Given the description of an element on the screen output the (x, y) to click on. 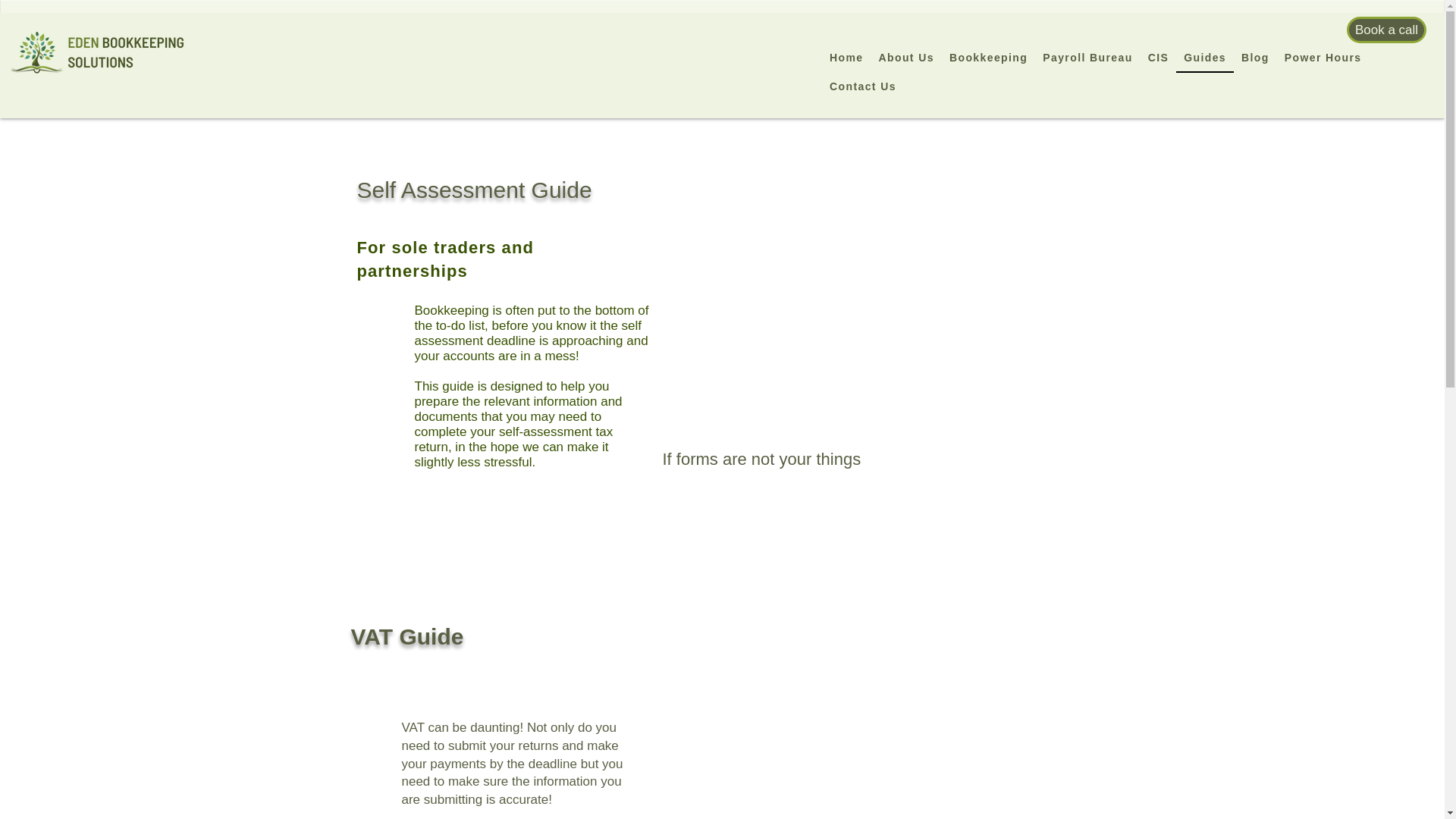
Power Hours (1323, 58)
Home (846, 58)
Book a call (1386, 29)
Payroll Bureau (1087, 58)
Blog (1254, 58)
Bookkeeping (988, 58)
About Us (905, 58)
Eden Bookkeeping Home (101, 52)
Guides (1204, 58)
Contact Us (863, 86)
